Given the description of an element on the screen output the (x, y) to click on. 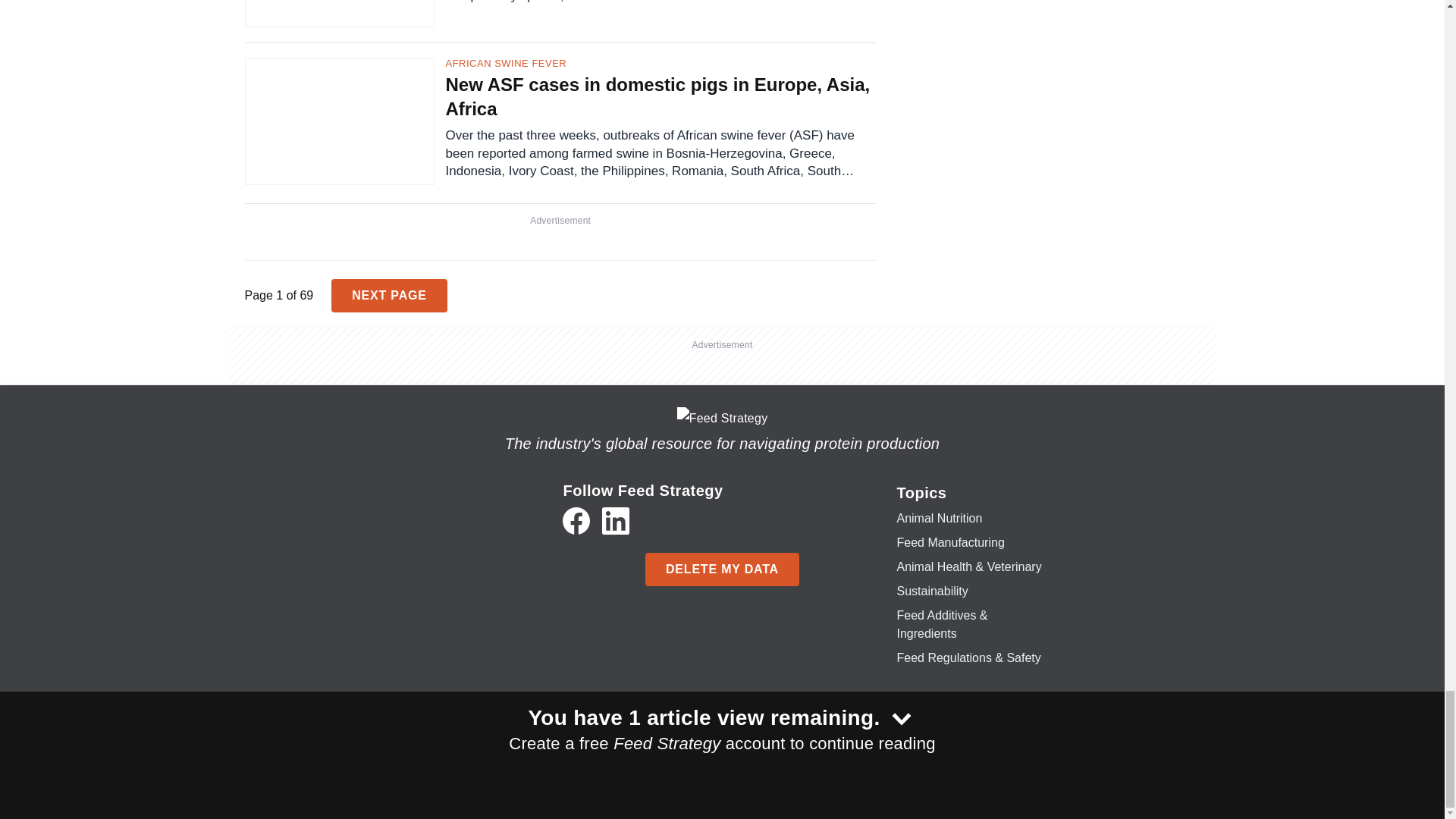
Facebook icon (575, 520)
LinkedIn icon (615, 520)
